Given the description of an element on the screen output the (x, y) to click on. 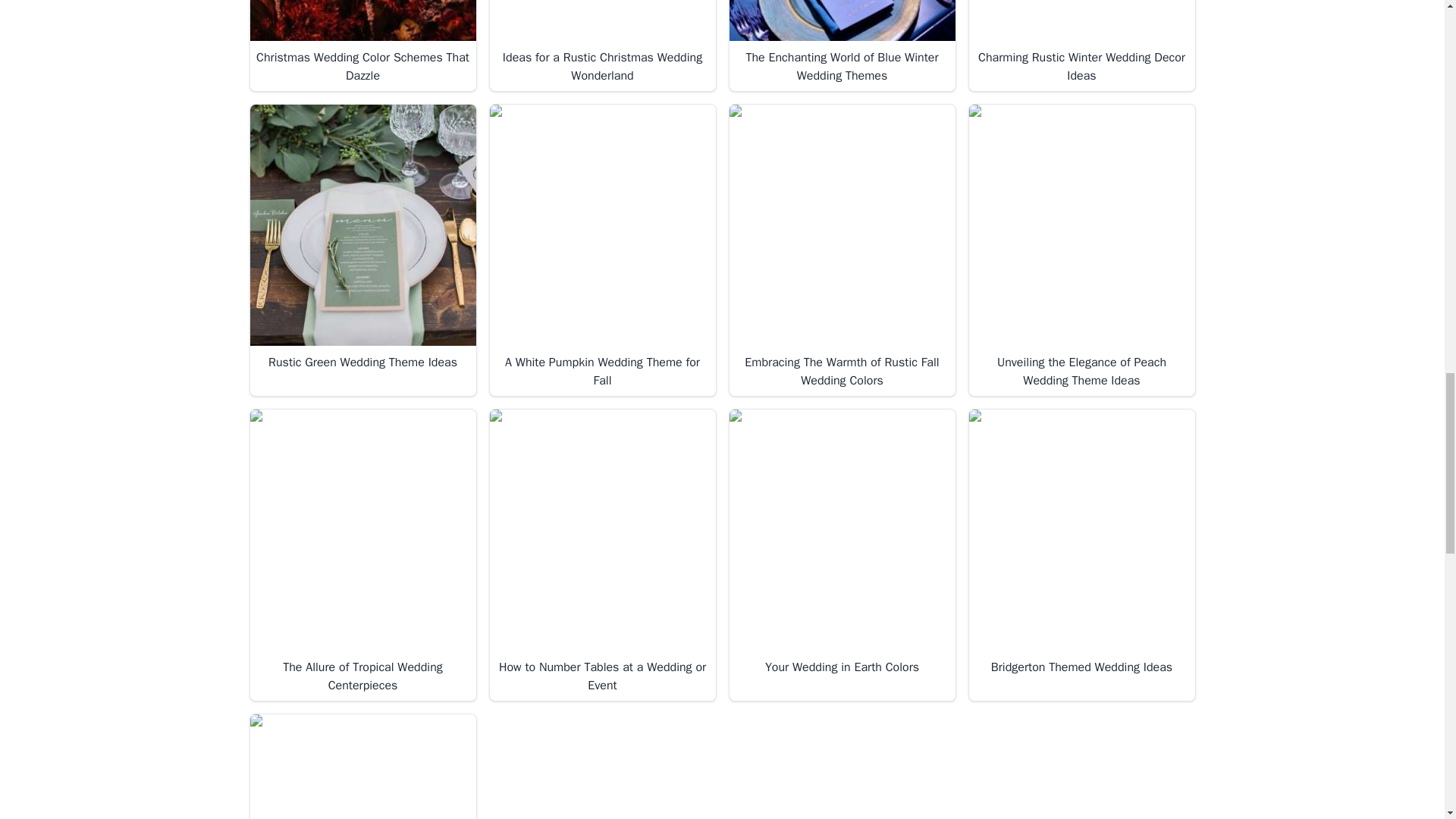
Ideas for a Rustic Christmas Wedding Wonderland (602, 21)
Embracing The Warmth of Rustic Fall Wedding Colors (842, 225)
The Allure of Tropical Wedding Centerpieces (363, 530)
Rustic Green Wedding Theme Ideas (363, 225)
Charming Rustic Winter Wedding Decor Ideas (1081, 45)
Unveiling the Elegance of Peach Wedding Theme Ideas (1082, 225)
The Enchanting World of Blue Winter Wedding Themes (842, 21)
A White Pumpkin Wedding Theme for Fall (602, 225)
The Enchanting World of Blue Winter Wedding Themes (841, 45)
Charming Rustic Winter Wedding Decor Ideas (1082, 21)
